Given the description of an element on the screen output the (x, y) to click on. 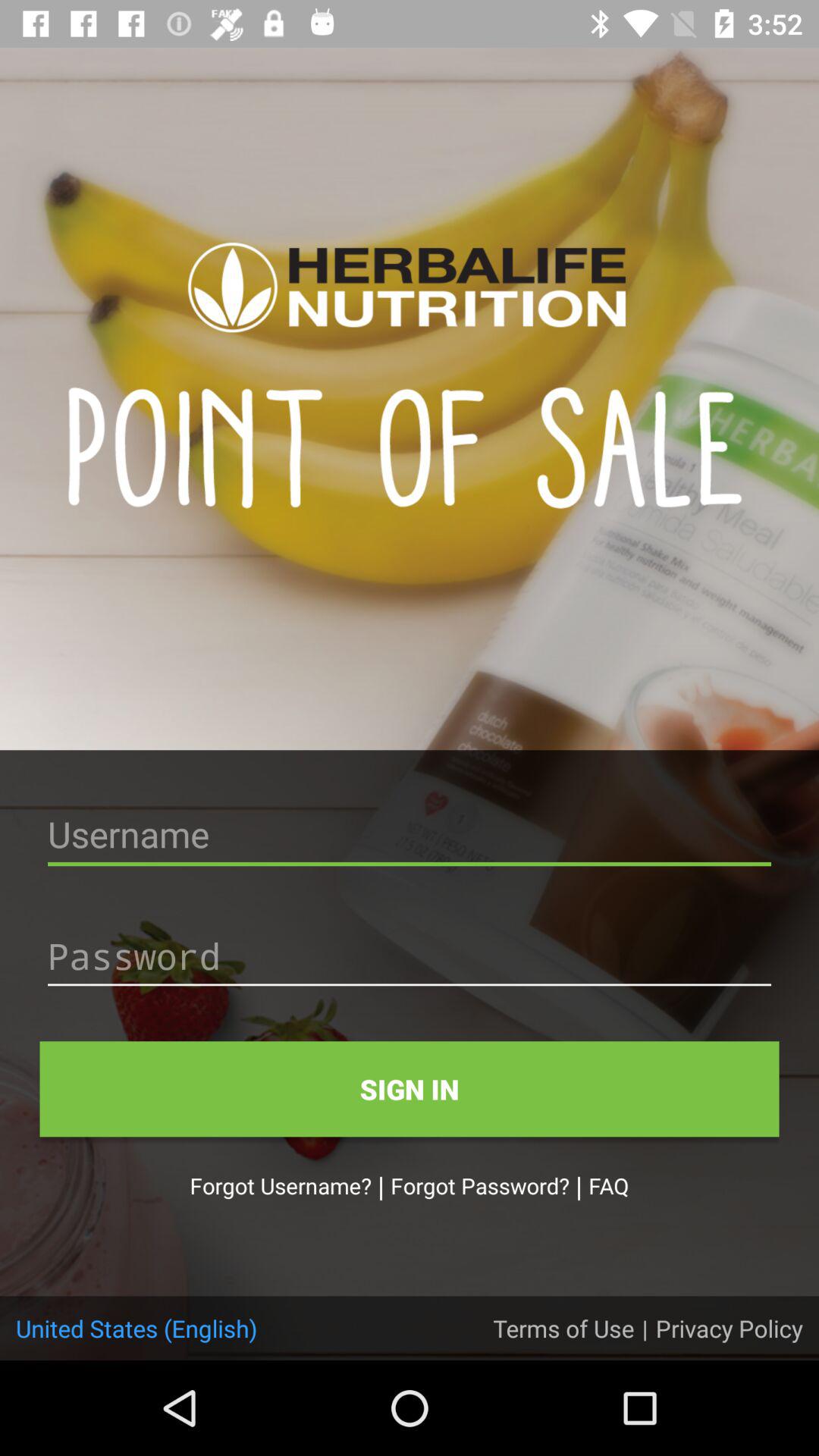
scroll to privacy policy item (729, 1328)
